Given the description of an element on the screen output the (x, y) to click on. 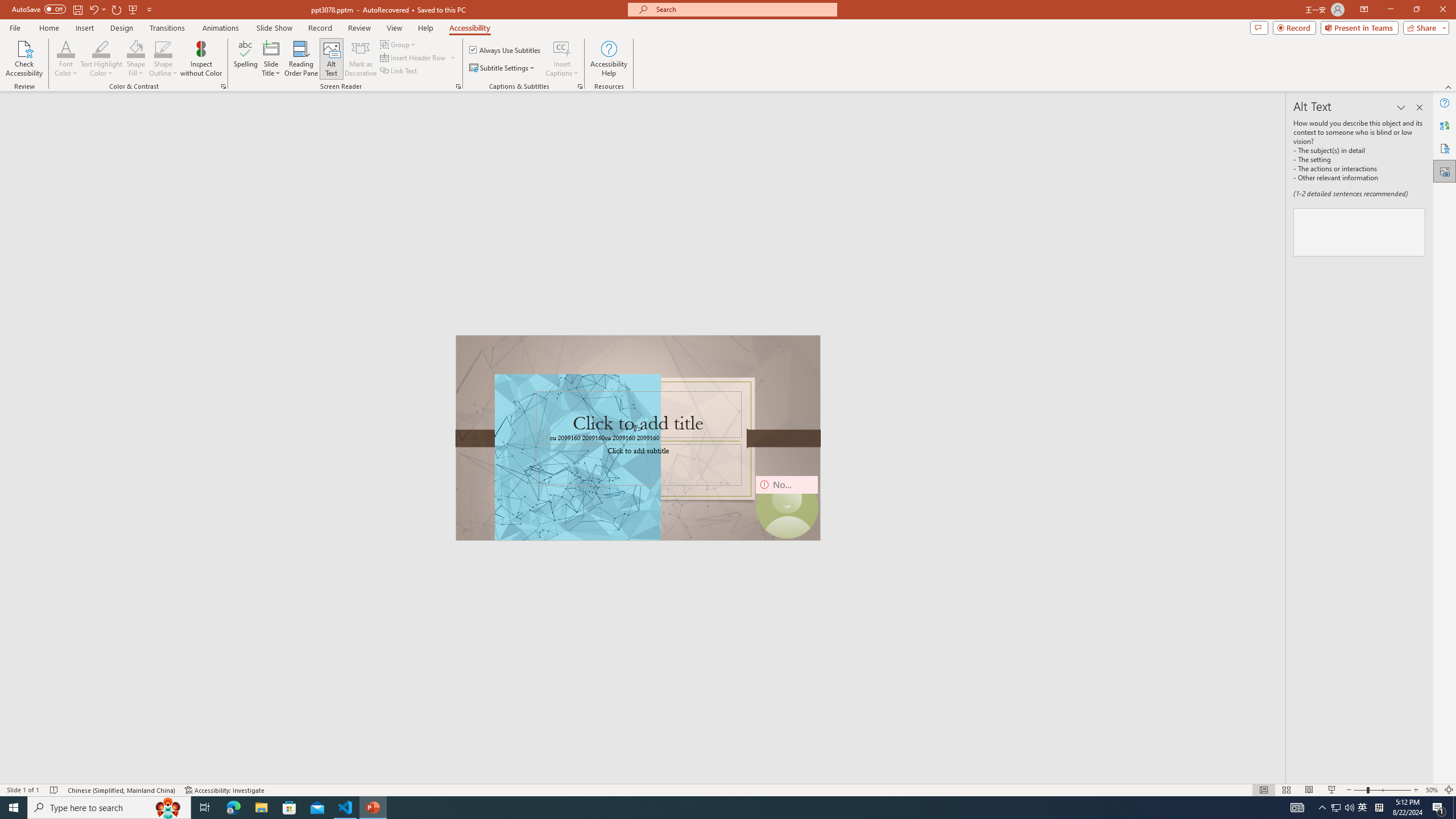
Subtitle Settings (502, 67)
Shape Outline (163, 48)
Alt Text (1444, 170)
Spelling... (245, 58)
Screen Reader (458, 85)
TextBox 7 (634, 428)
Reading Order Pane (301, 58)
Font Color (65, 58)
Zoom 50% (1431, 790)
Text Highlight Color (100, 58)
Insert Header Row (418, 56)
Link Text (399, 69)
